Given the description of an element on the screen output the (x, y) to click on. 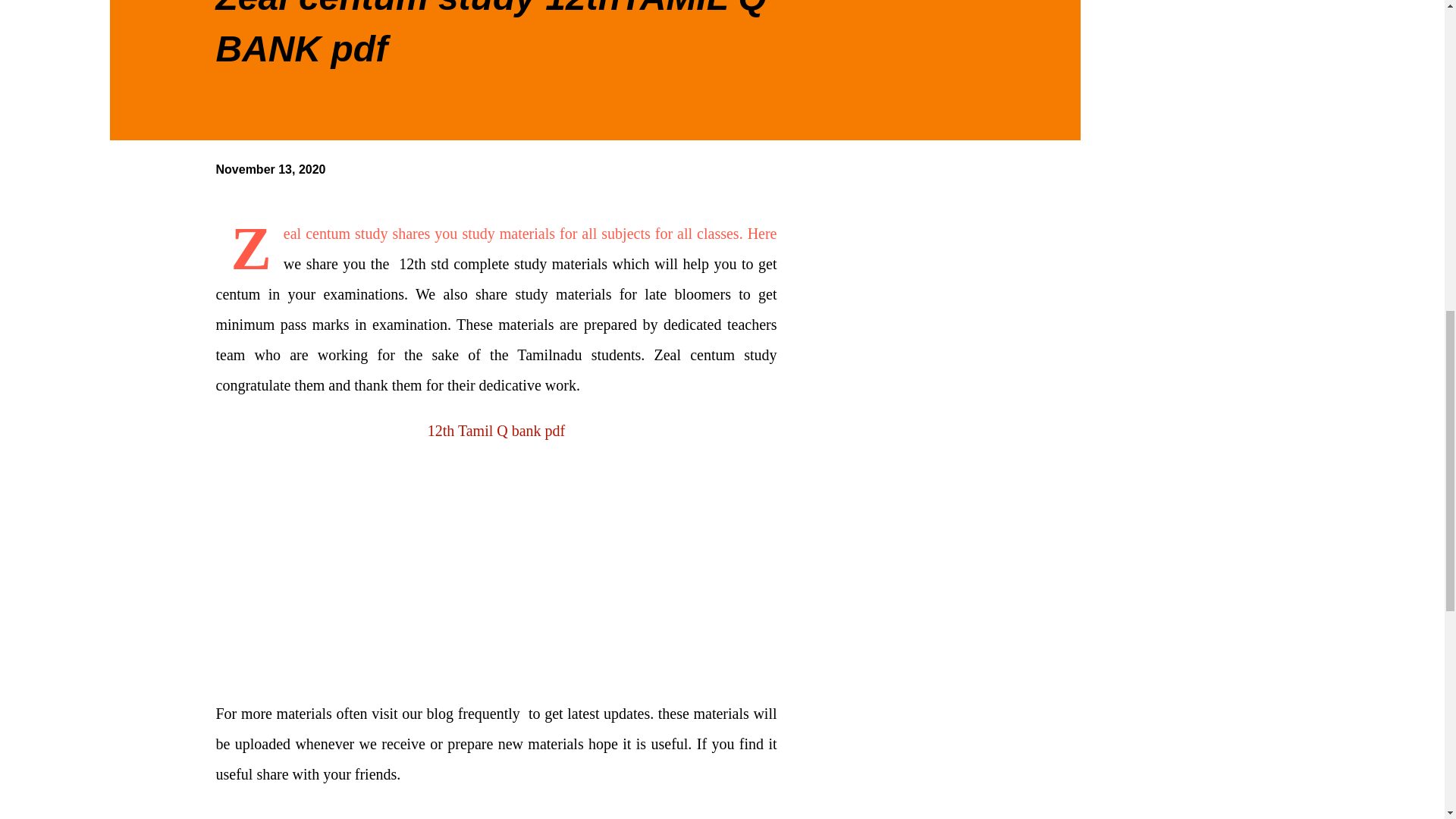
permanent link (269, 169)
12th Tamil Q bank pdf (497, 430)
November 13, 2020 (269, 169)
